Given the description of an element on the screen output the (x, y) to click on. 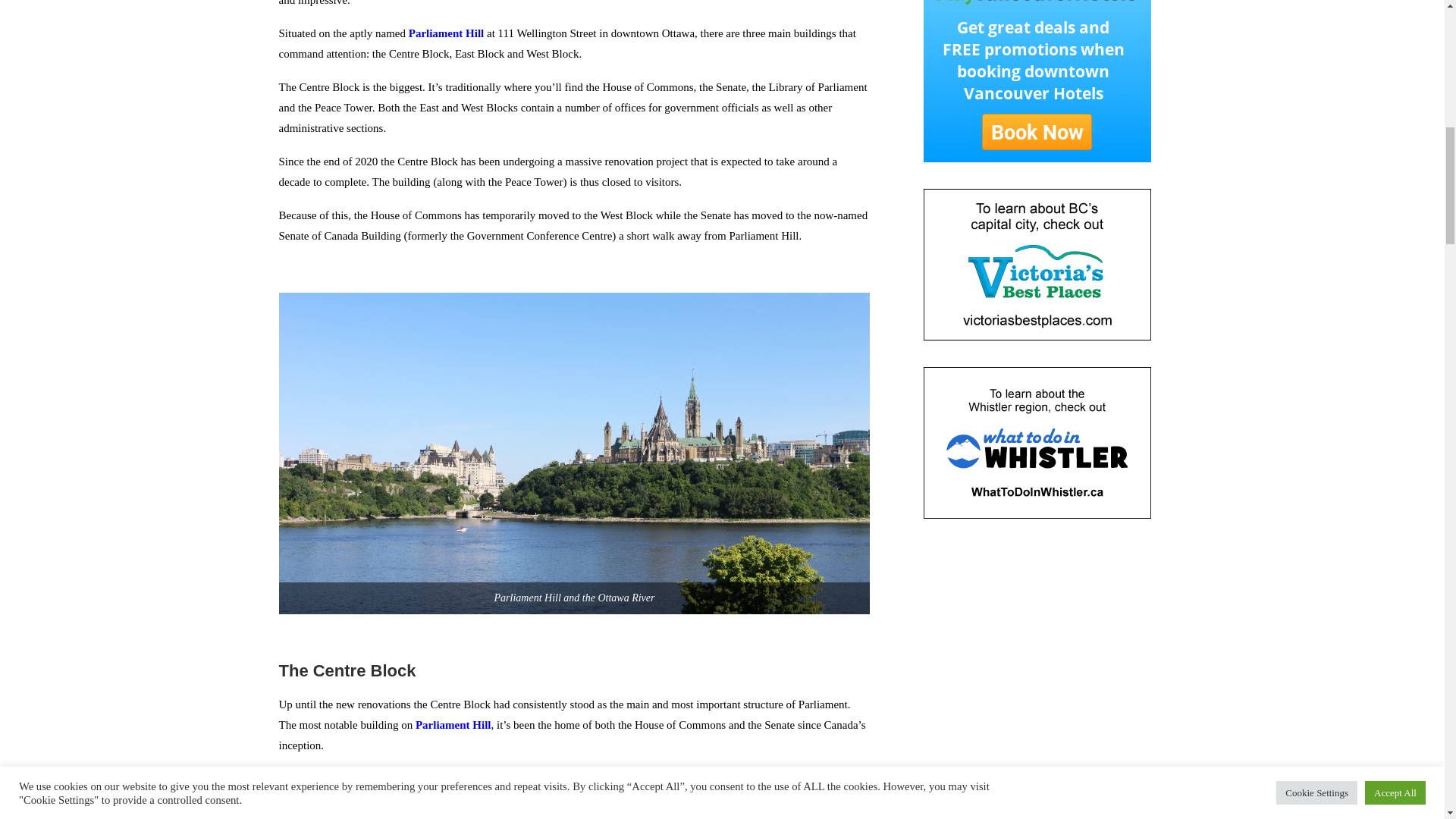
Parliament Hill (446, 33)
Click for hotel deals at StayVancouverHotels.com (1037, 81)
Parliament Hill (453, 725)
Click for the website victoriasbestplaces.com (1037, 264)
